Given the description of an element on the screen output the (x, y) to click on. 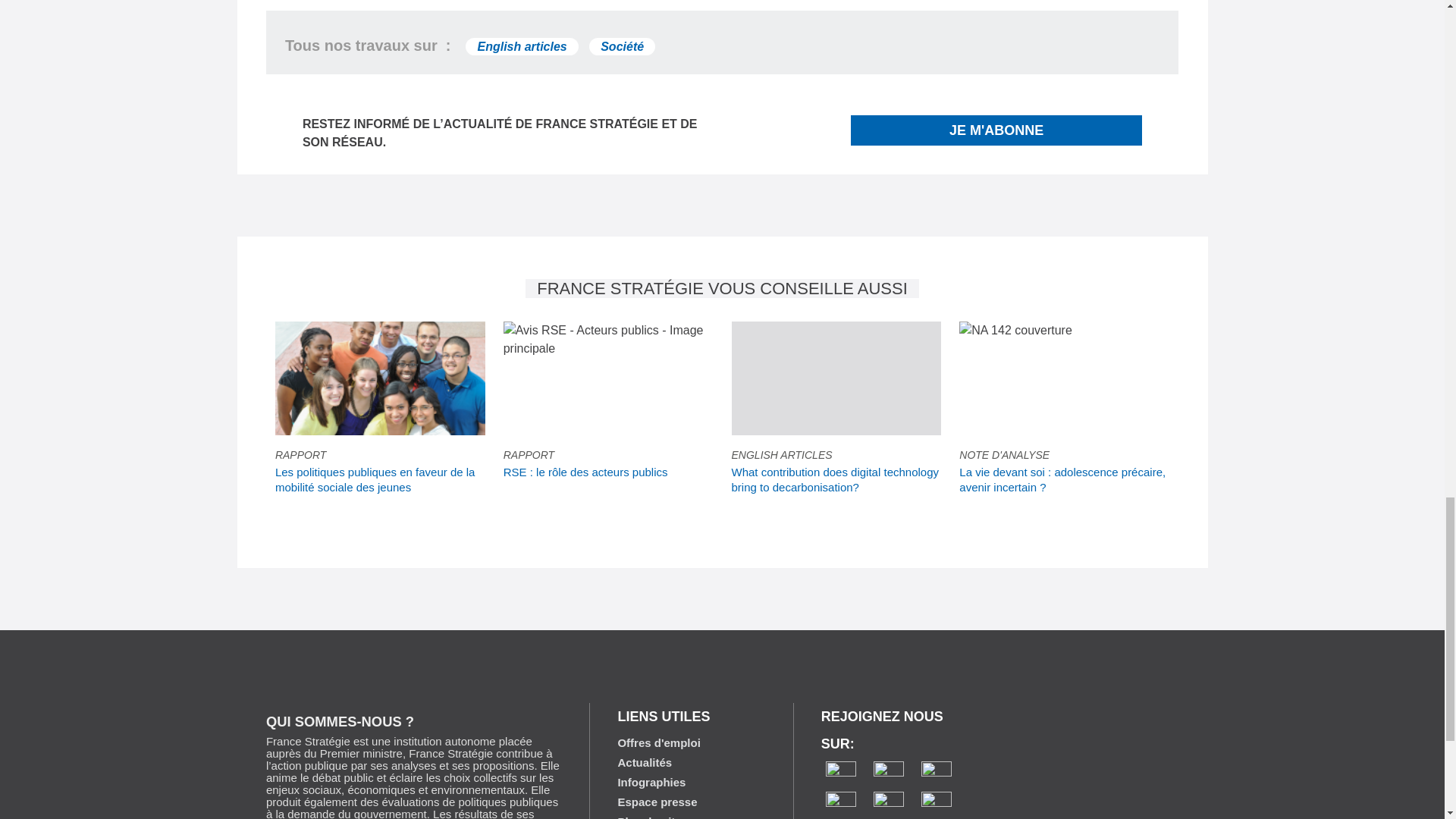
JE M'ABONNE (995, 130)
NA 142 couverture (1015, 330)
Avis RSE - Acteurs publics - Image principale (608, 339)
